Given the description of an element on the screen output the (x, y) to click on. 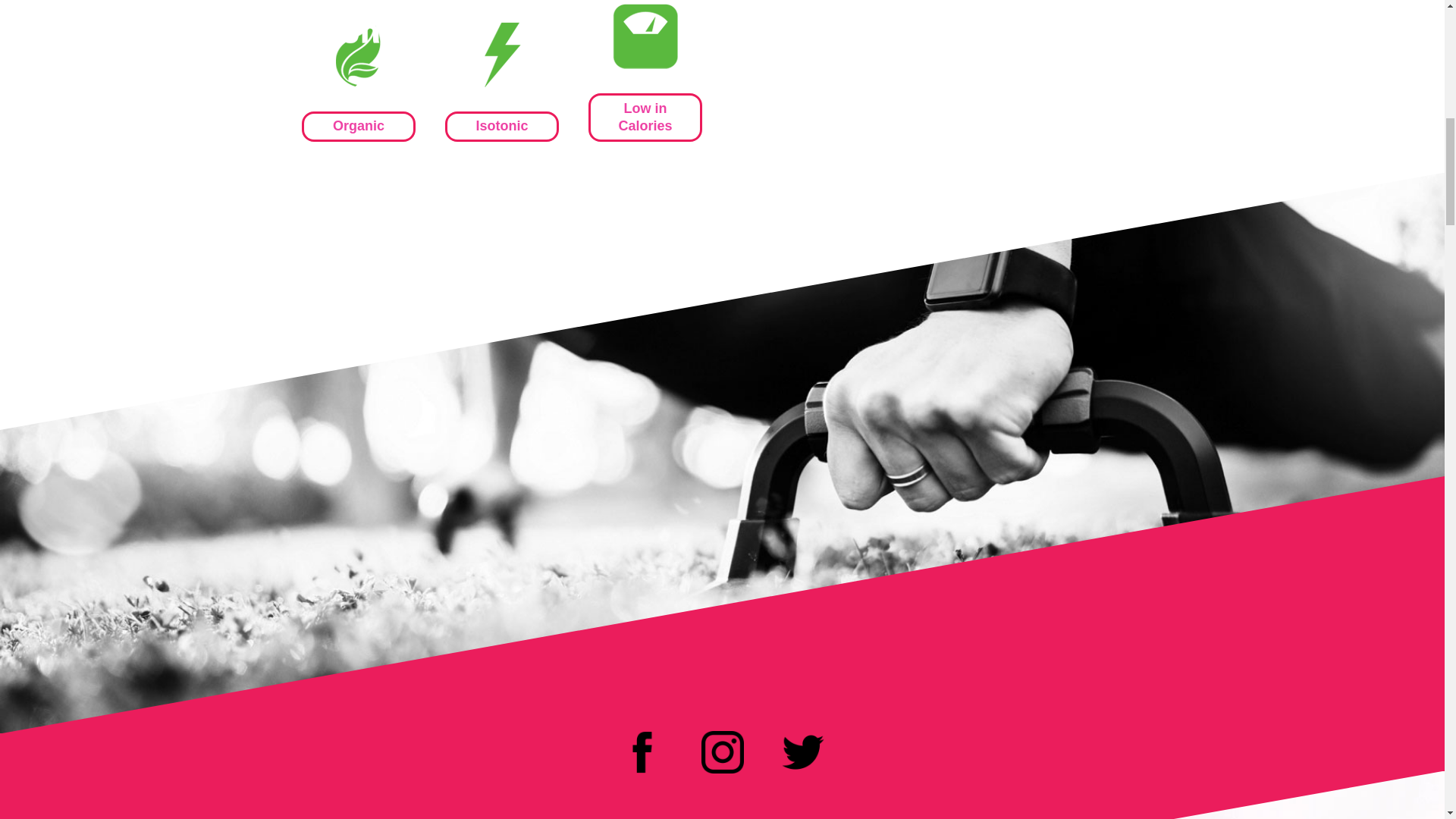
Twitter (802, 752)
Facebook (641, 752)
Instagram (721, 752)
